Given the description of an element on the screen output the (x, y) to click on. 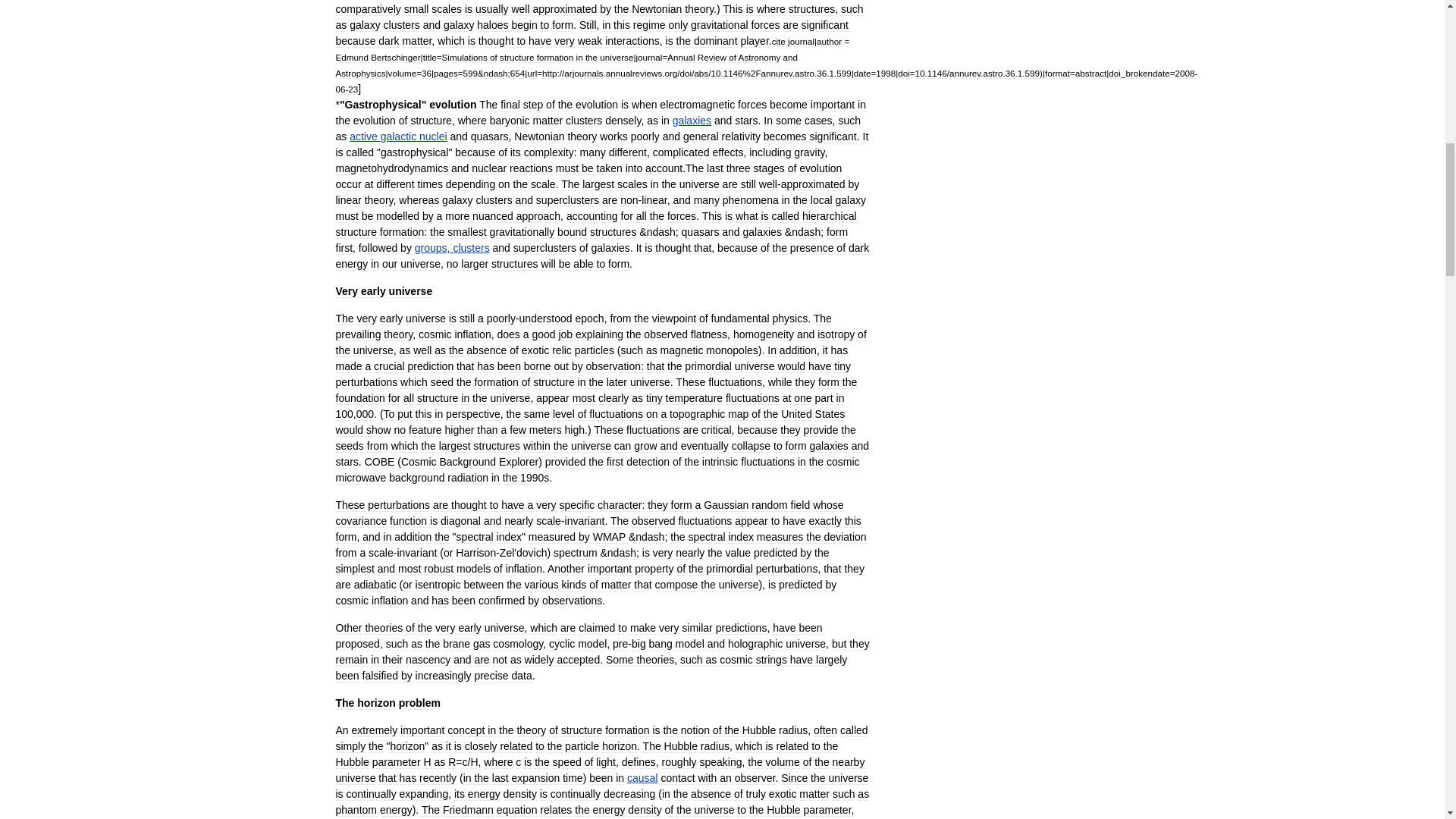
active galactic nuclei (397, 136)
causal (642, 777)
groups, clusters (451, 247)
galaxies (691, 120)
